Given the description of an element on the screen output the (x, y) to click on. 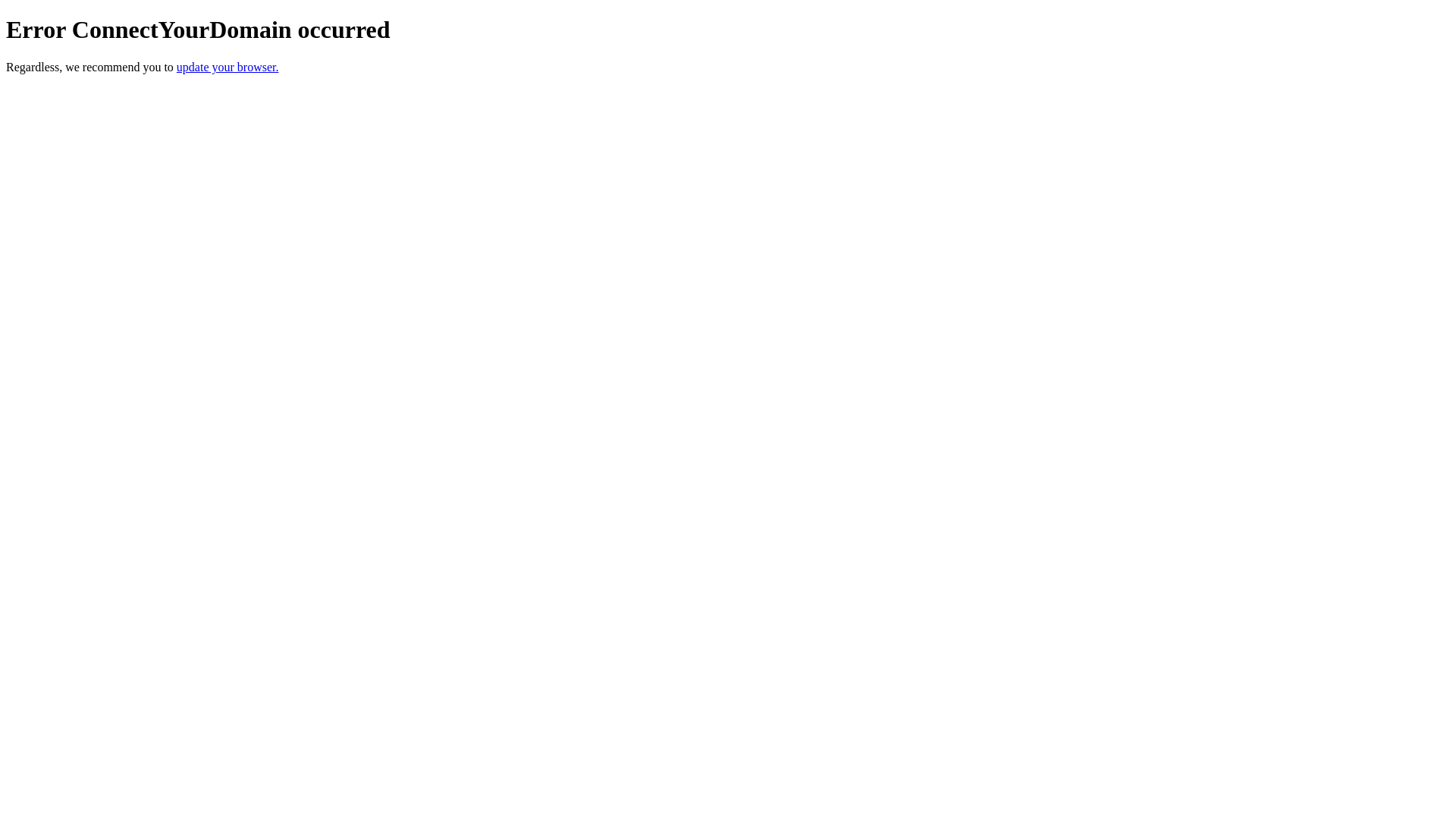
update your browser. Element type: text (227, 66)
